Given the description of an element on the screen output the (x, y) to click on. 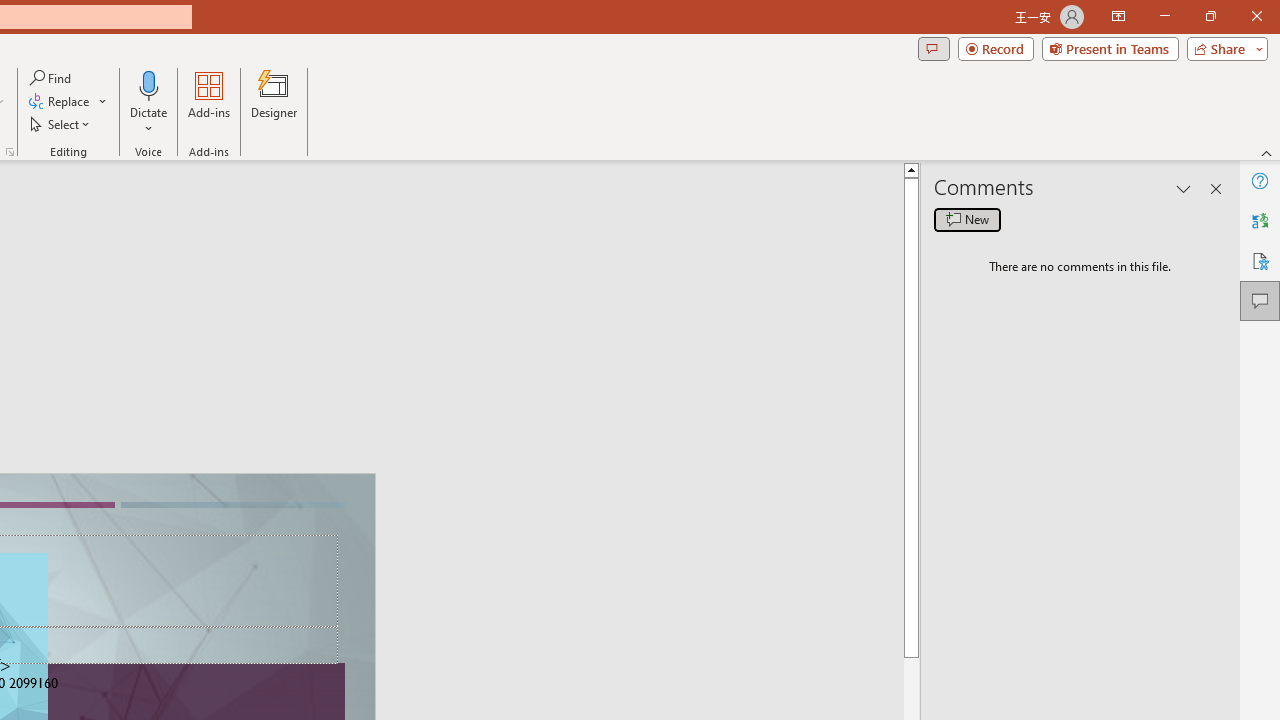
New comment (967, 219)
